Given the description of an element on the screen output the (x, y) to click on. 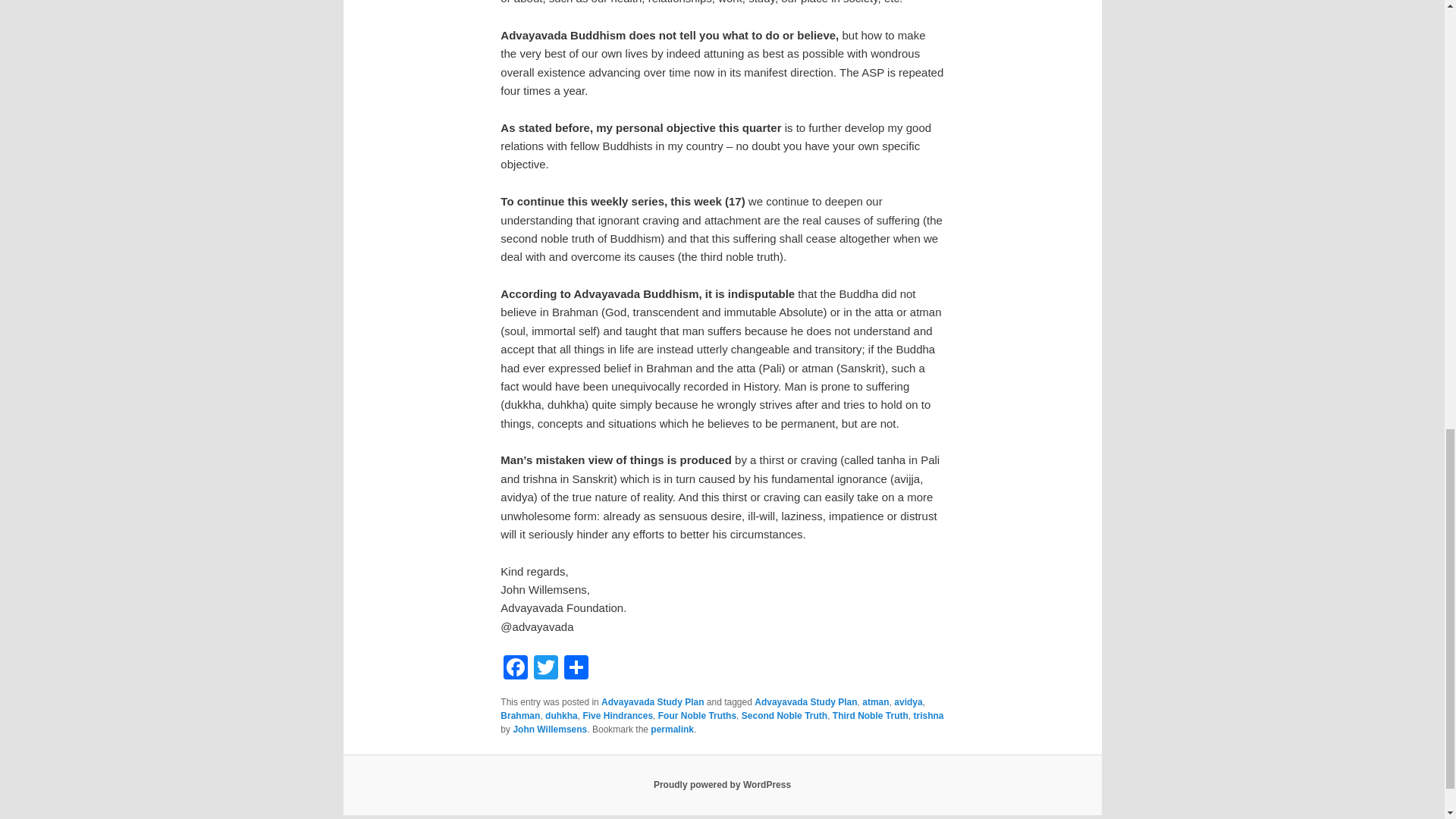
avidya (907, 701)
Semantic Personal Publishing Platform (721, 784)
Twitter (545, 669)
John Willemsens (549, 728)
trishna (927, 715)
duhkha (561, 715)
permalink (672, 728)
Proudly powered by WordPress (721, 784)
Advayavada Study Plan (805, 701)
Brahman (520, 715)
Advayavada Study Plan (652, 701)
Twitter (545, 669)
Five Hindrances (617, 715)
Facebook (515, 669)
Facebook (515, 669)
